Given the description of an element on the screen output the (x, y) to click on. 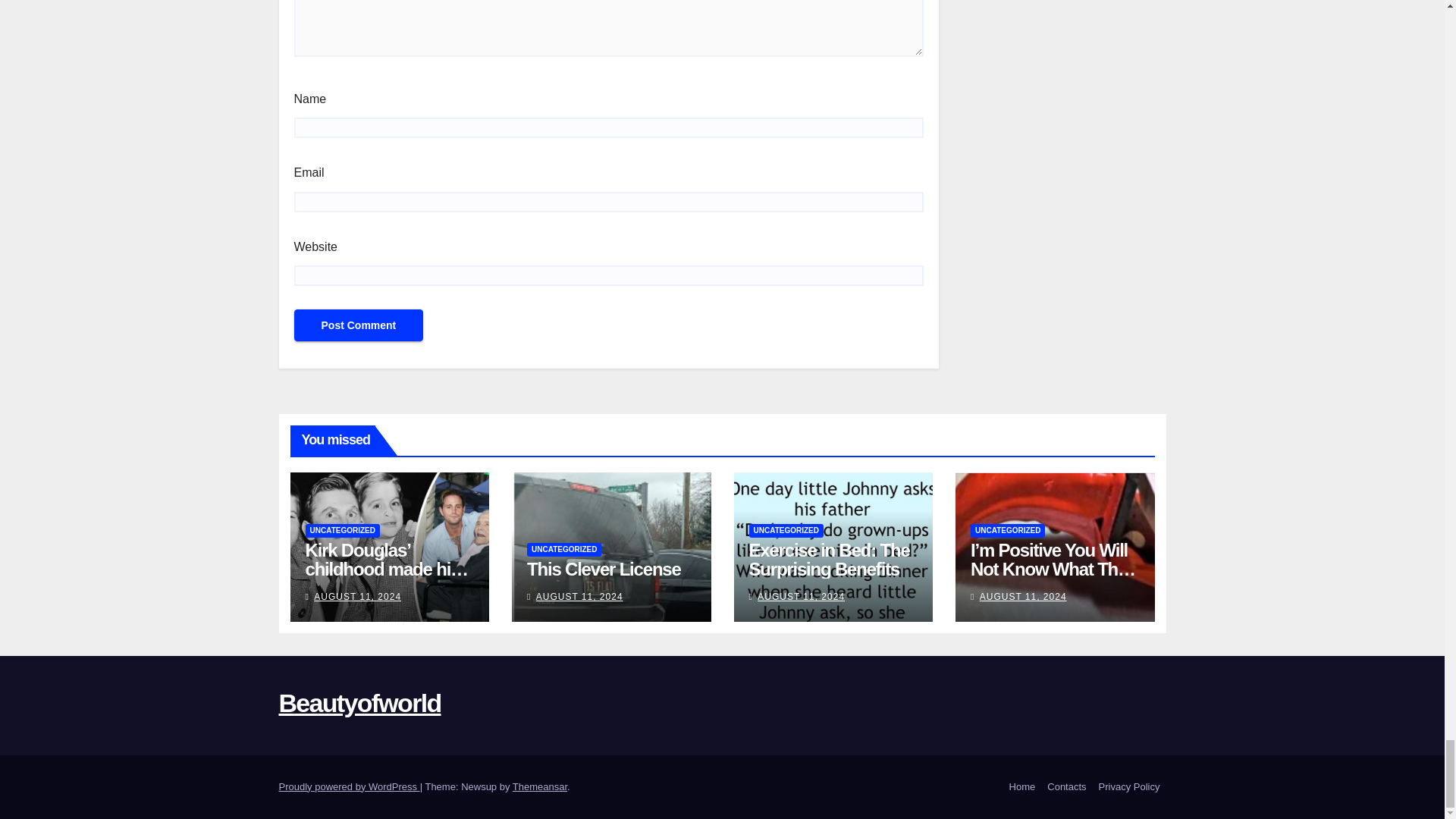
Permalink to: This Clever License (604, 568)
UNCATEGORIZED (564, 549)
This Clever License (604, 568)
Post Comment (358, 325)
Post Comment (358, 325)
Home (1022, 786)
AUGUST 11, 2024 (357, 596)
Permalink to: Exercise in Bed: The Surprising Benefits (829, 559)
UNCATEGORIZED (341, 530)
